Given the description of an element on the screen output the (x, y) to click on. 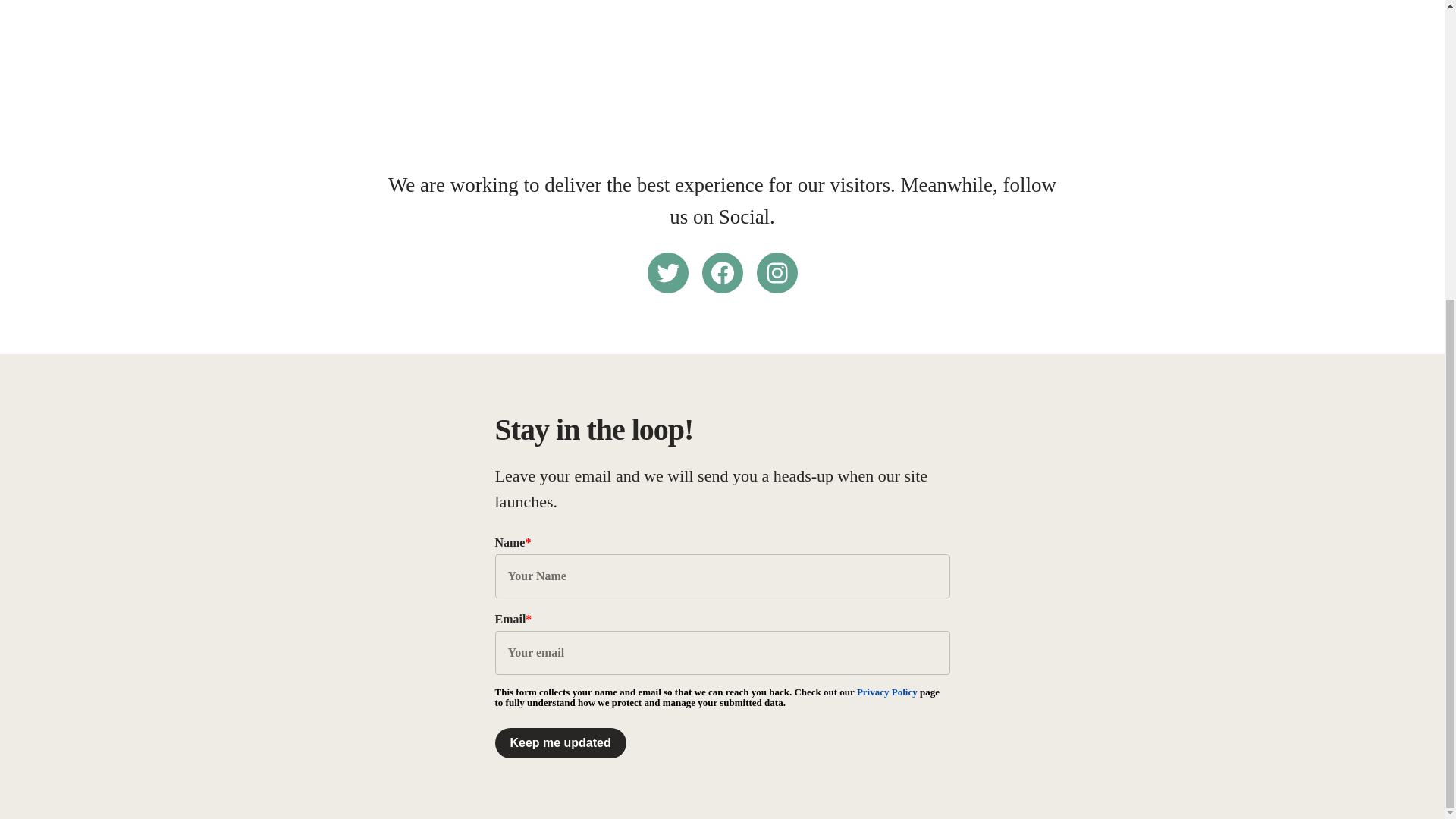
Keep me updated (560, 743)
Privacy Policy (887, 691)
